Given the description of an element on the screen output the (x, y) to click on. 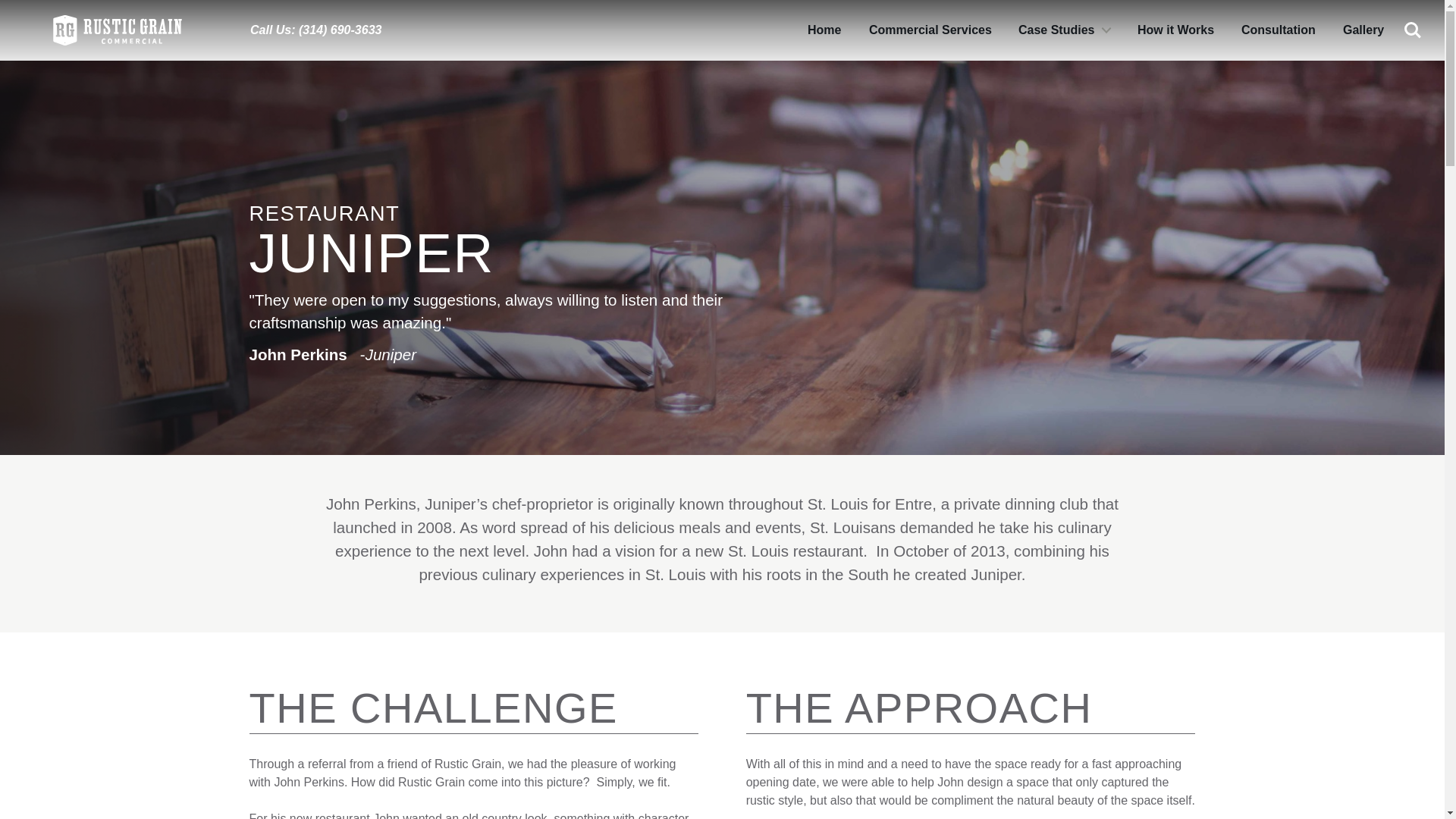
How it Works (1175, 30)
Commercial Services (929, 30)
Consultation (1278, 30)
Gallery (1363, 30)
RESTAURANT (323, 213)
Case Studies (1063, 30)
Search (1412, 29)
